Given the description of an element on the screen output the (x, y) to click on. 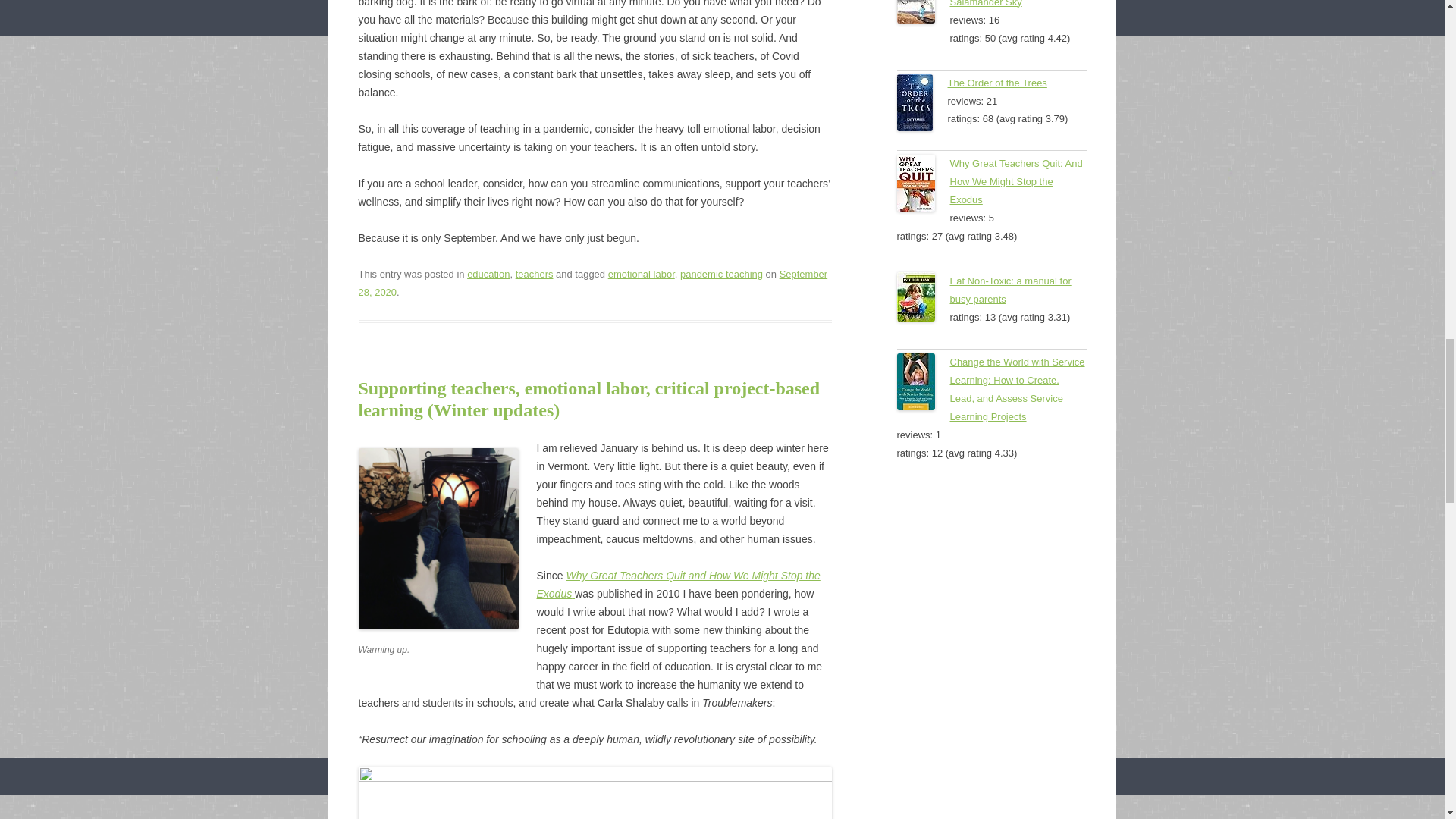
teachers (534, 274)
pandemic teaching (720, 274)
Why Great Teachers Quit and How We Might Stop the Exodus (679, 584)
September 28, 2020 (592, 283)
emotional labor (641, 274)
7:56 am (592, 283)
education (488, 274)
Eat Non-Toxic: a manual for busy parents (922, 299)
Salamander Sky (922, 14)
